Given the description of an element on the screen output the (x, y) to click on. 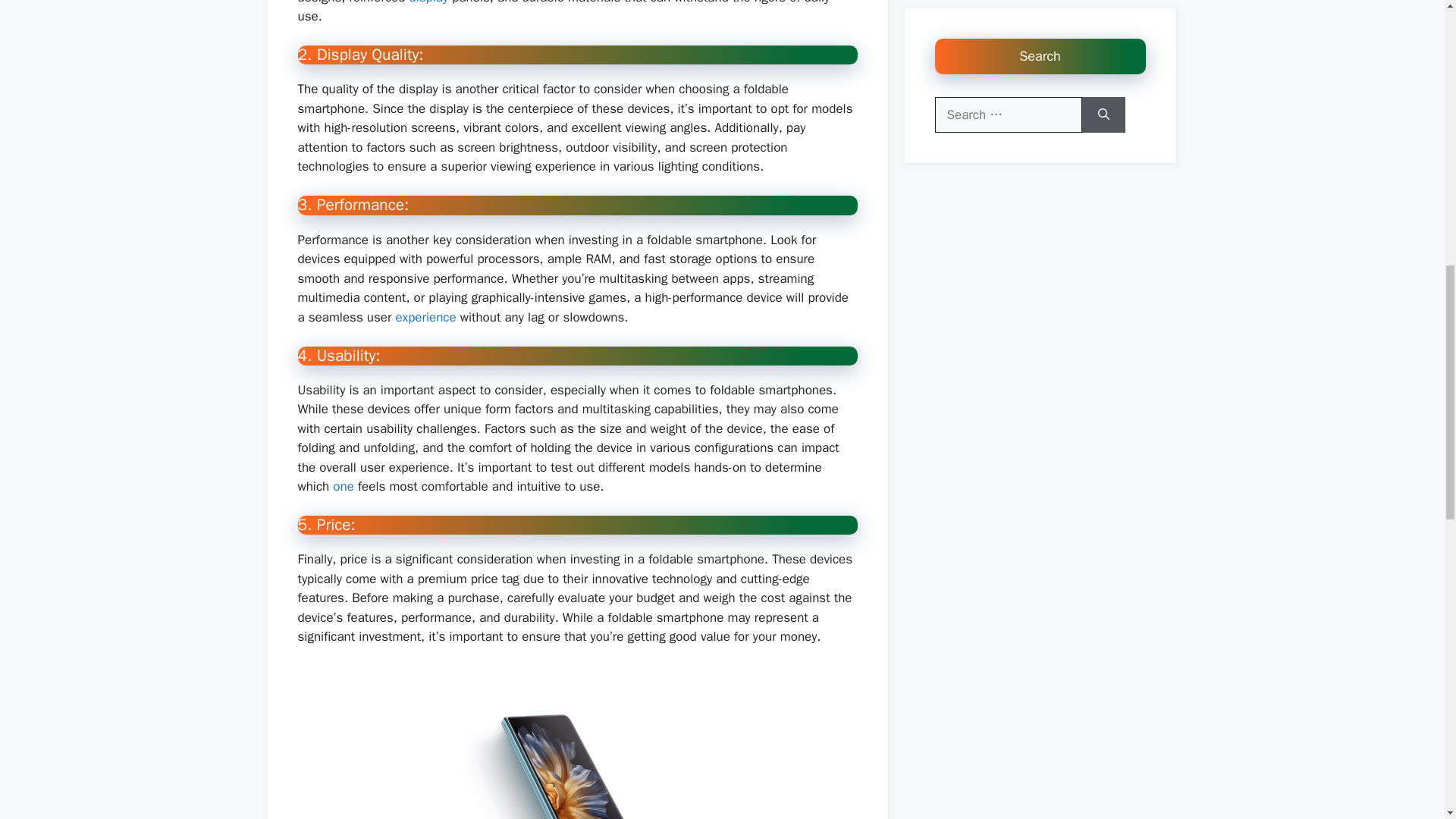
experience (426, 317)
one (343, 486)
display (428, 2)
